Given the description of an element on the screen output the (x, y) to click on. 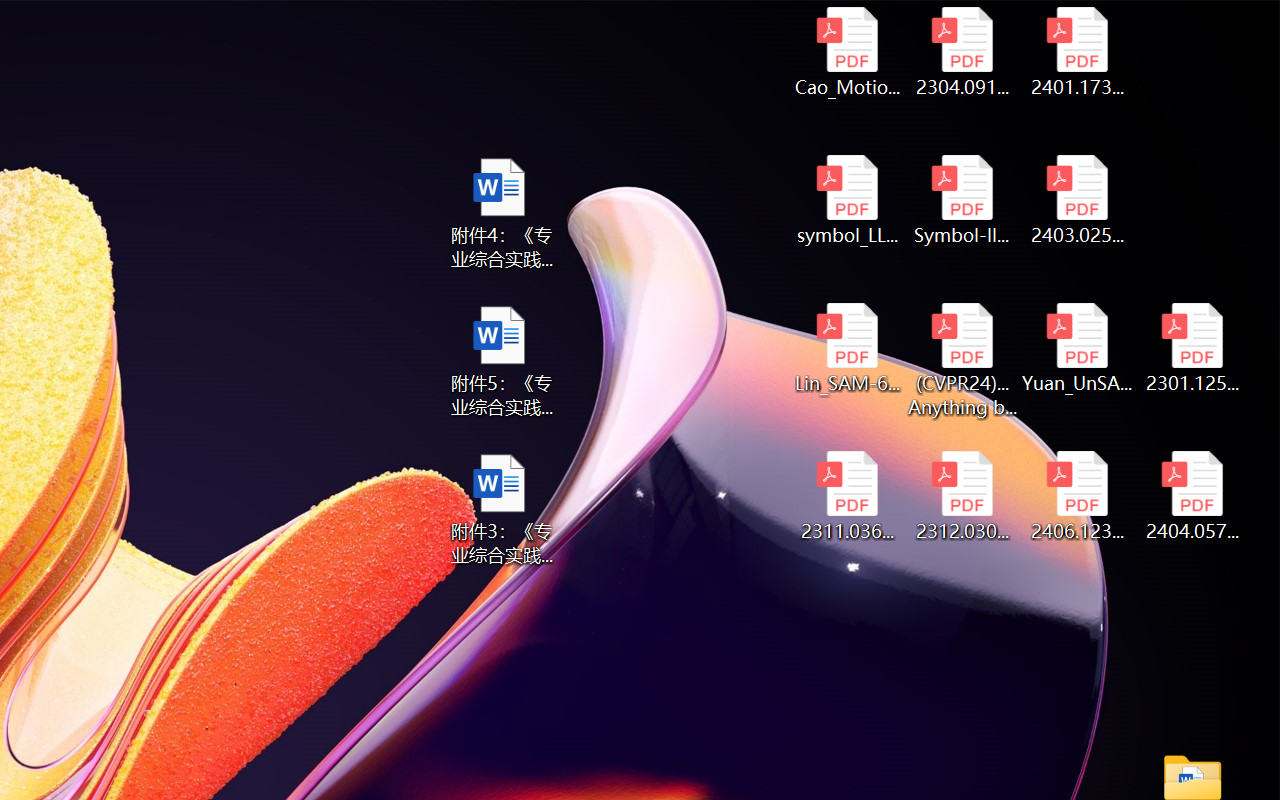
2406.12373v2.pdf (1077, 496)
